Given the description of an element on the screen output the (x, y) to click on. 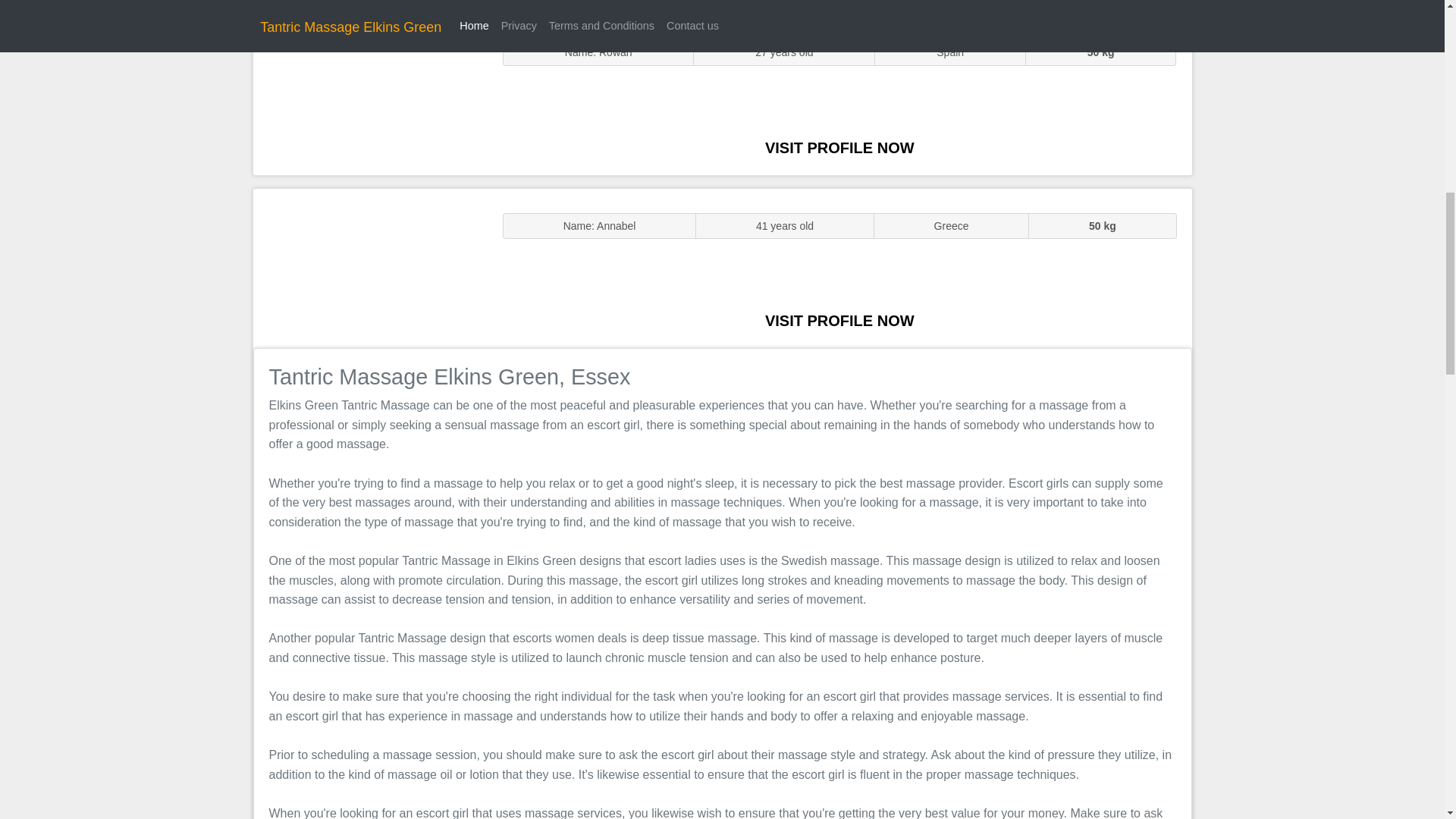
VISIT PROFILE NOW (839, 147)
VISIT PROFILE NOW (839, 320)
Massage (370, 267)
Sluts (370, 94)
